Given the description of an element on the screen output the (x, y) to click on. 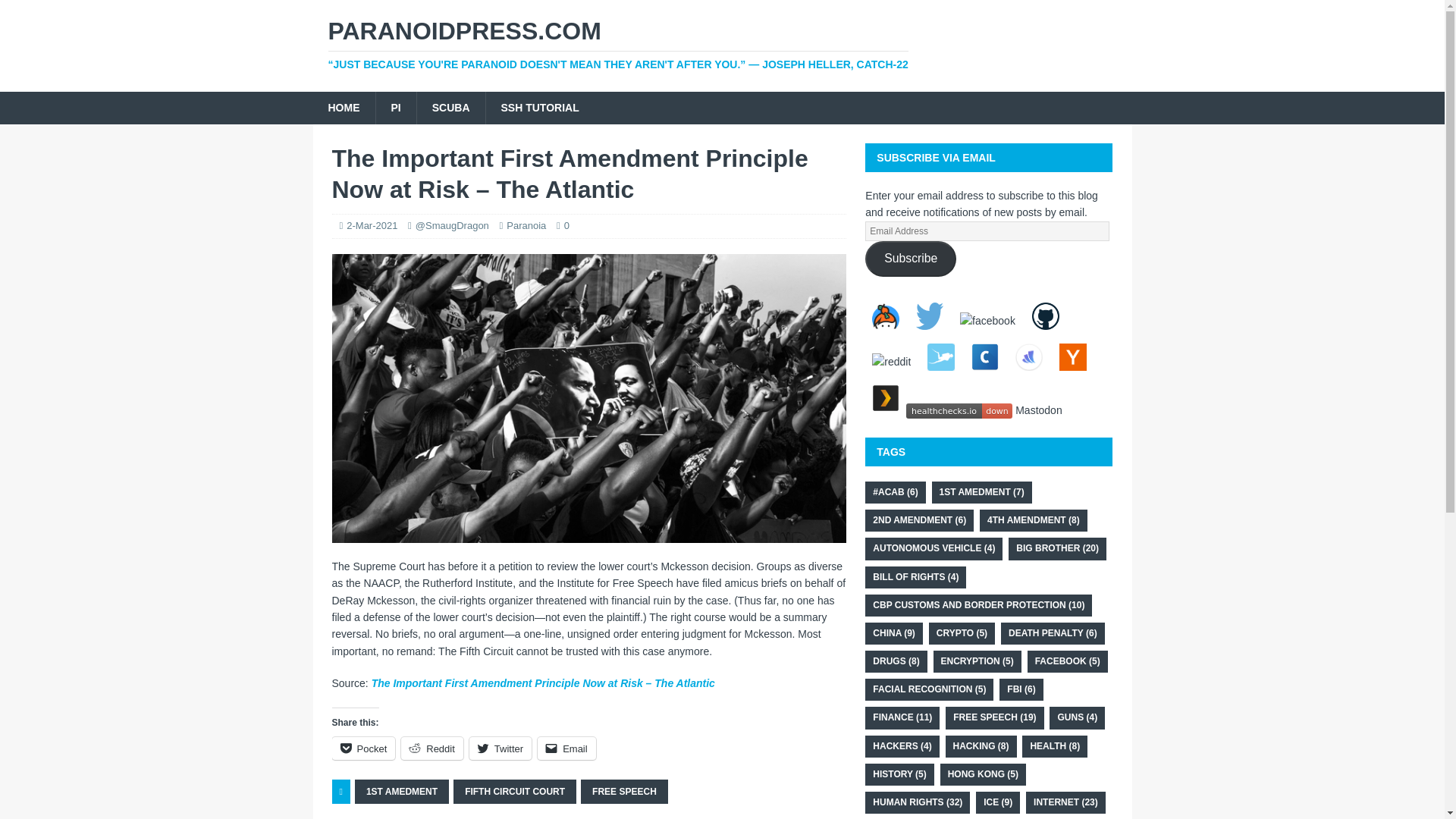
Click to share on Twitter (499, 748)
Click to email a link to a friend (566, 748)
Subscribe (910, 258)
Paranoia (526, 225)
Pocket (363, 748)
SSH TUTORIAL (539, 107)
Click to share on Reddit (432, 748)
FREE SPEECH (624, 791)
PI (394, 107)
2-Mar-2021 (371, 225)
Paranoidpress.com (721, 44)
1ST AMEDMENT (401, 791)
Click to share on Pocket (363, 748)
FIFTH CIRCUIT COURT (514, 791)
Twitter (499, 748)
